Given the description of an element on the screen output the (x, y) to click on. 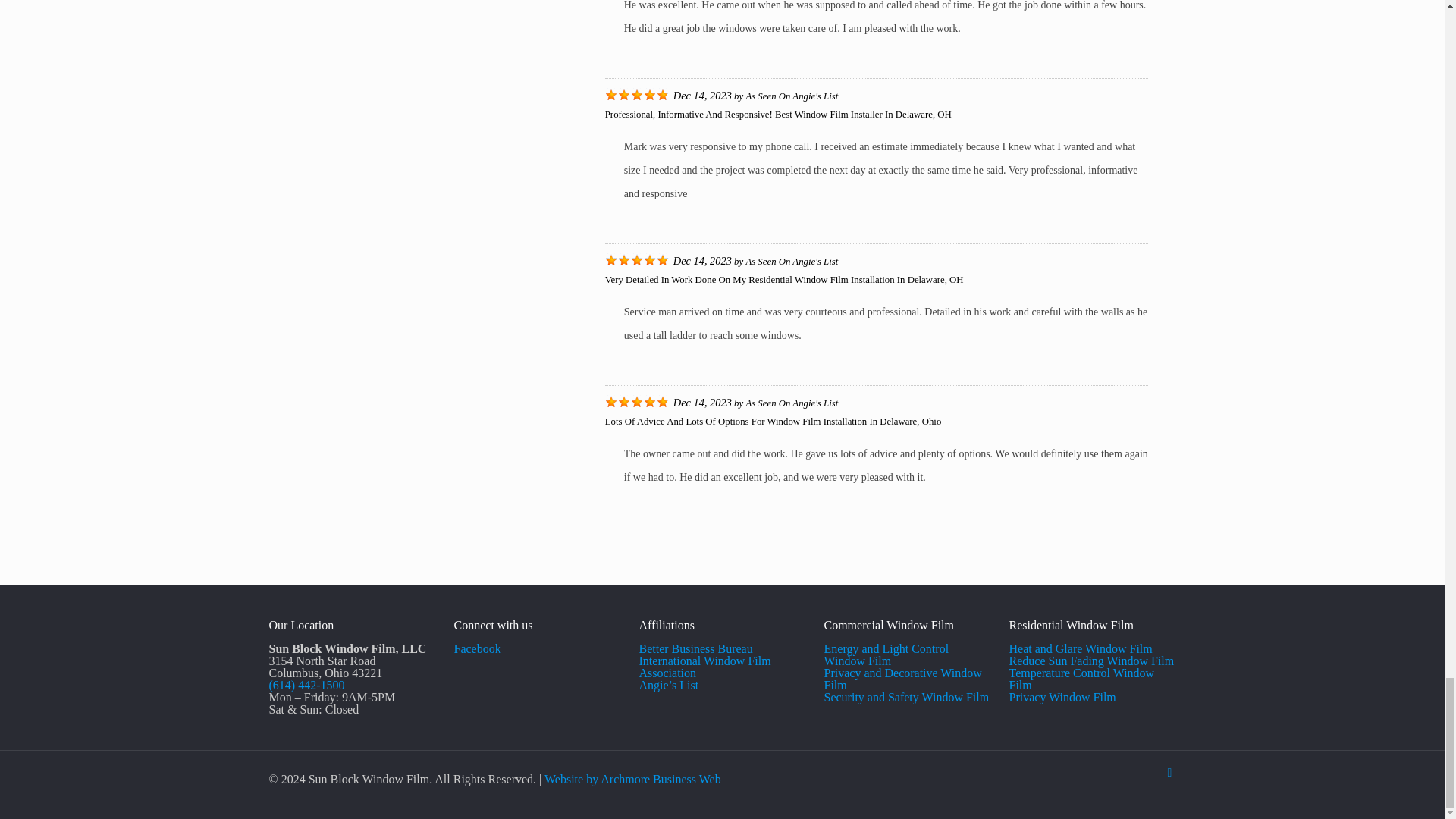
Security and Safety Window Film (906, 697)
Energy and Light Control Window Film (886, 654)
Better Business Bureau (695, 648)
Privacy and Decorative Window Film (902, 678)
Facebook  (477, 648)
International Window Film Association (704, 666)
